Given the description of an element on the screen output the (x, y) to click on. 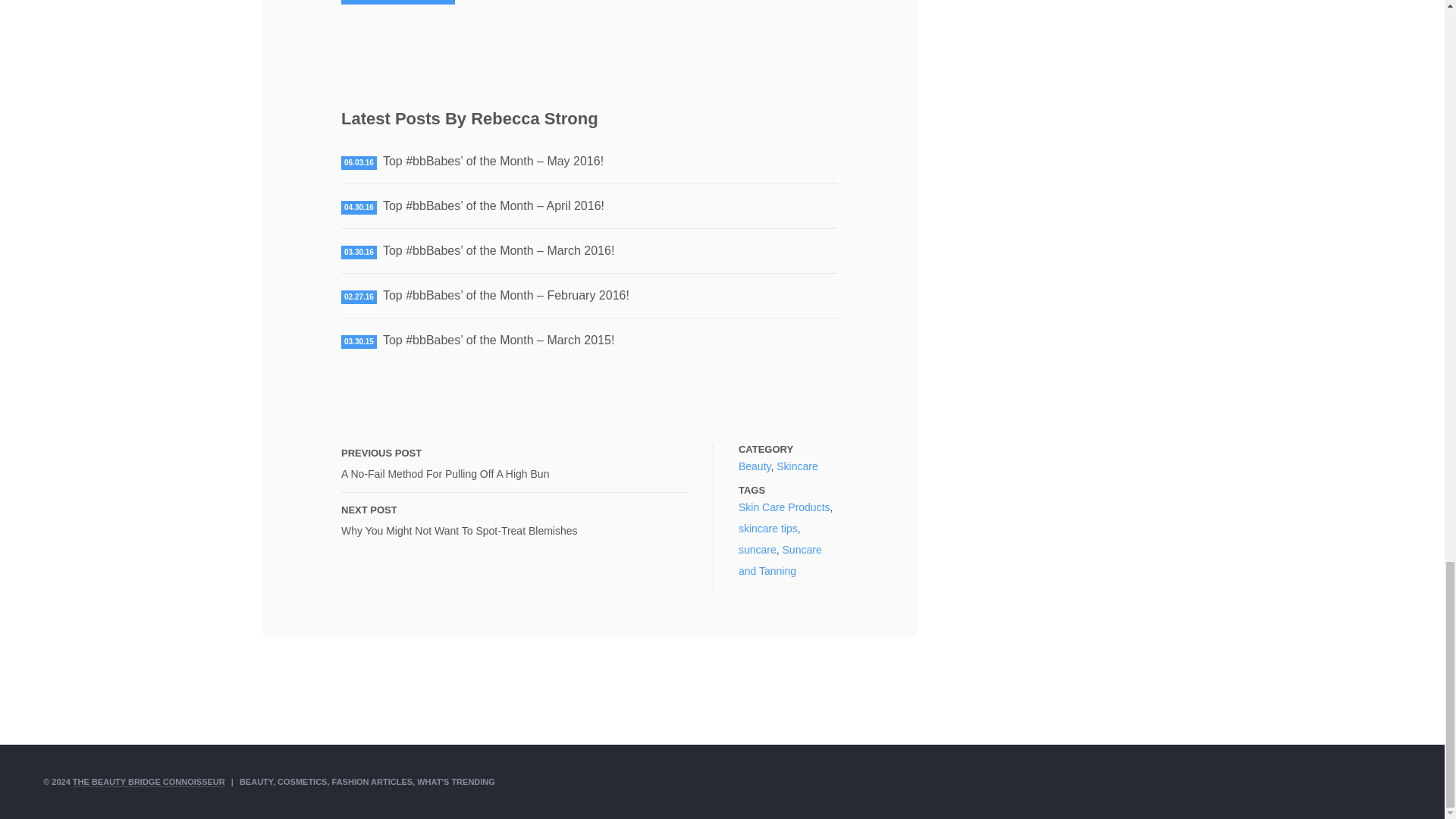
Post Comment (397, 2)
